Given the description of an element on the screen output the (x, y) to click on. 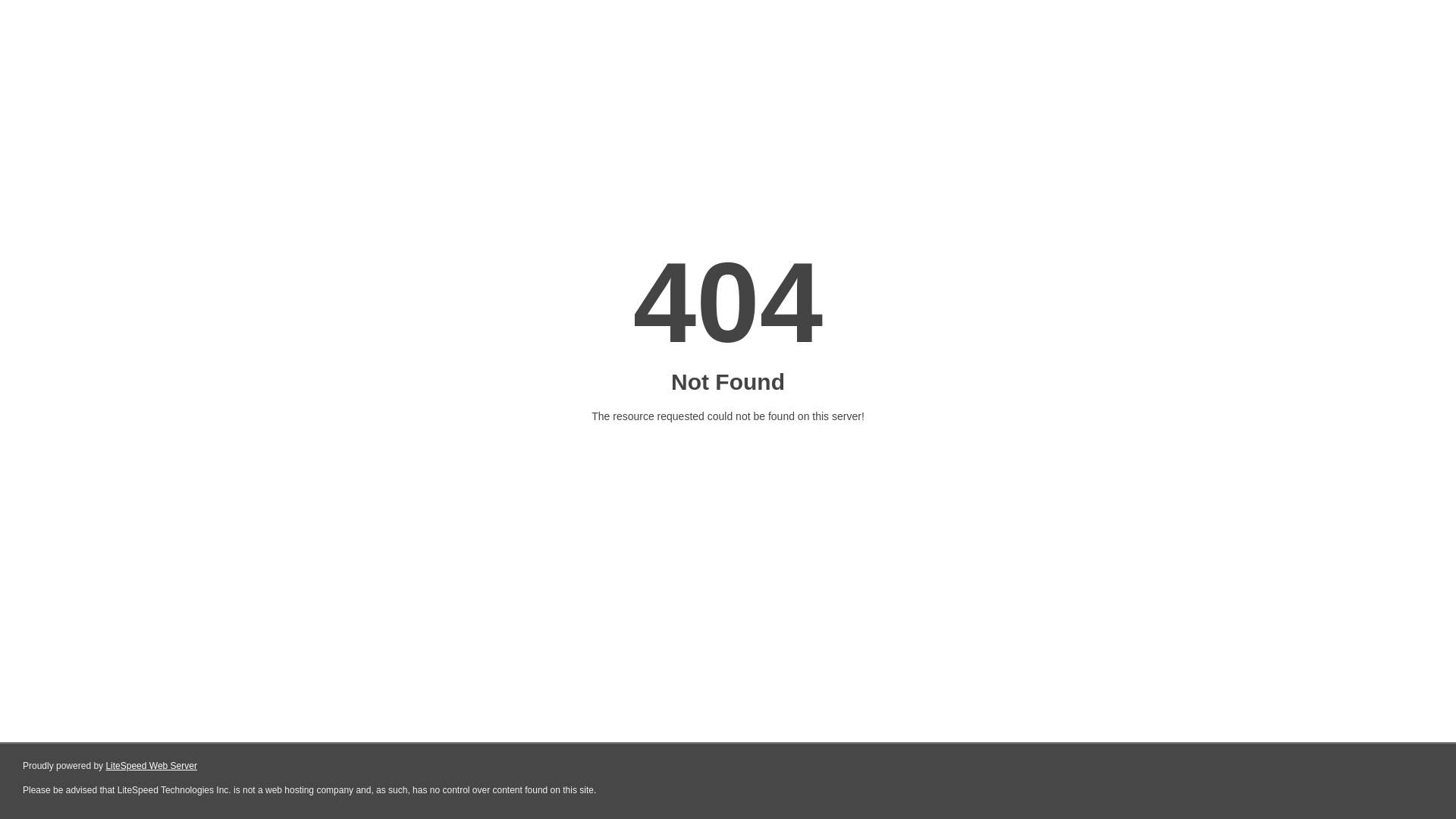
LiteSpeed Web Server Element type: text (151, 765)
